Given the description of an element on the screen output the (x, y) to click on. 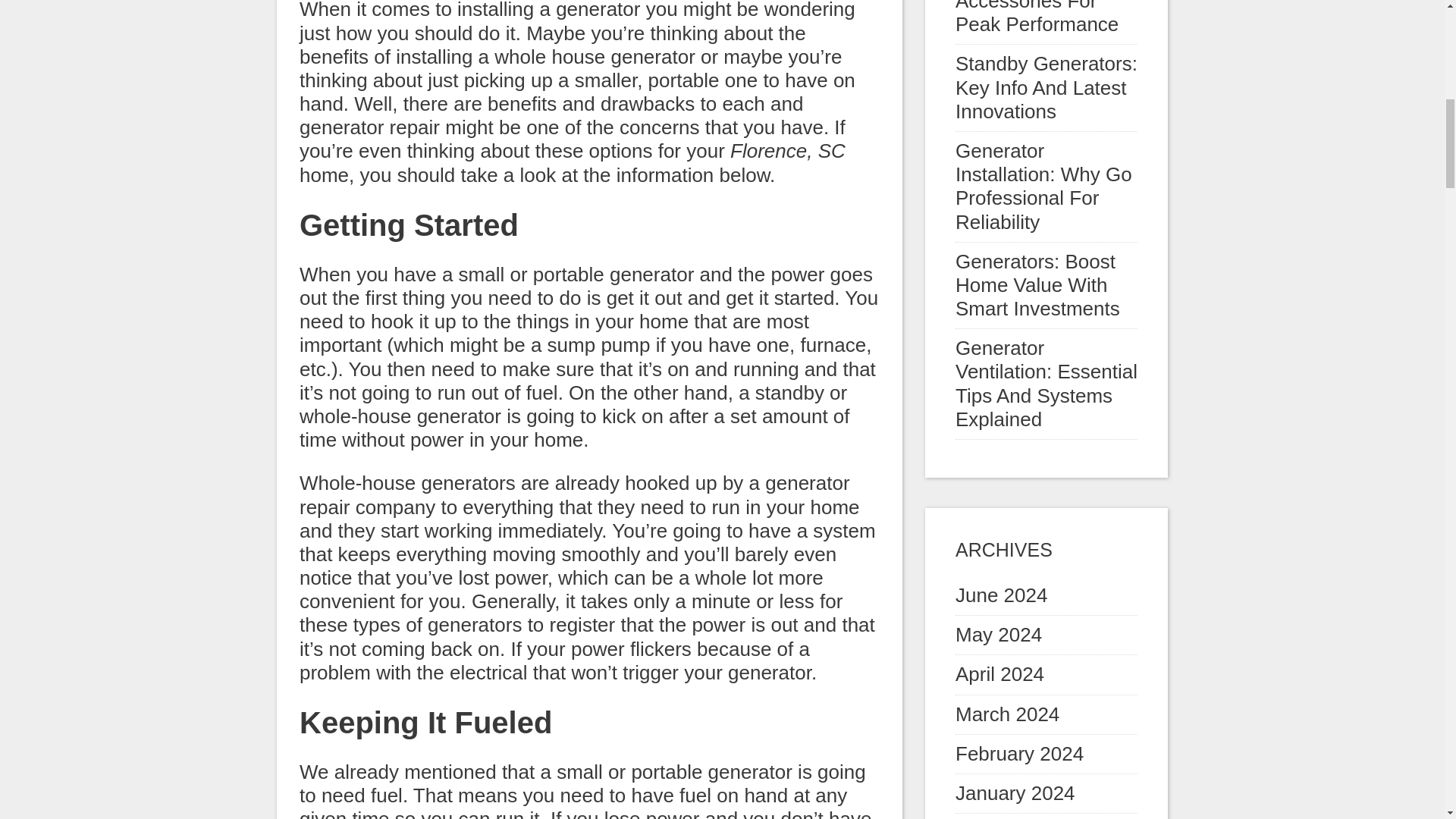
Generator Installation: Why Go Professional For Reliability  (1043, 186)
Must-Have Generator Accessories For Peak Performance  (1039, 18)
generator repair (369, 127)
Standby Generators: Key Info And Latest Innovations (1046, 87)
Generators: Boost Home Value With Smart Investments (1037, 285)
